Given the description of an element on the screen output the (x, y) to click on. 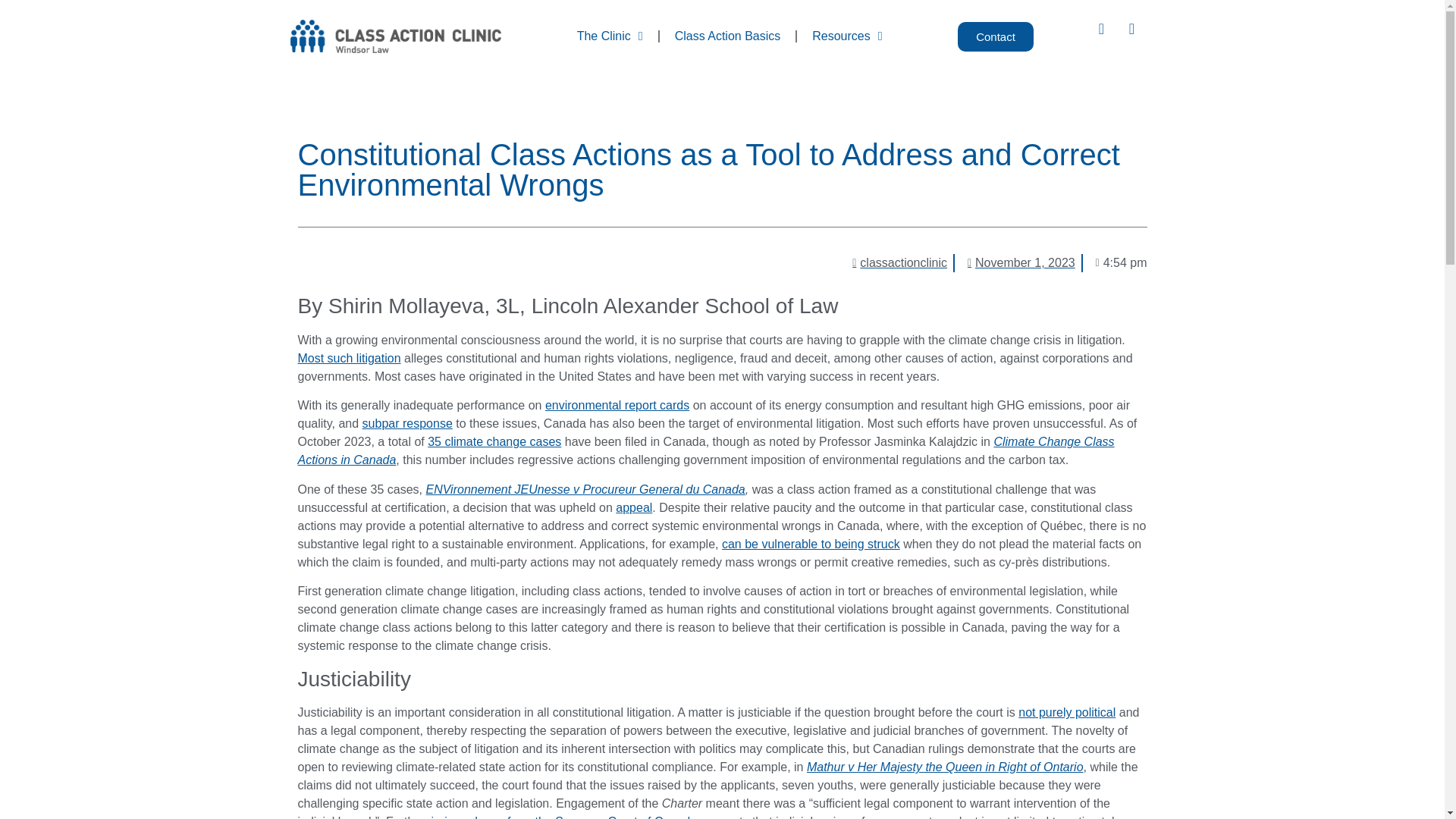
ENVironnement JEUnesse v Procureur General du Canada (585, 489)
environmental report cards (616, 404)
jurisprudence from the Supreme Court of Canada (563, 816)
Contact (995, 35)
Class Action Basics (727, 36)
not purely political (1066, 712)
Most such litigation (348, 358)
Climate Change Class Actions in Canada (705, 450)
can be vulnerable to being struck (810, 543)
appeal (633, 507)
The Clinic (610, 36)
November 1, 2023 (1017, 262)
Resources (846, 36)
Mathur v Her Majesty the Queen in Right of Ontario (944, 766)
subpar response (407, 422)
